Given the description of an element on the screen output the (x, y) to click on. 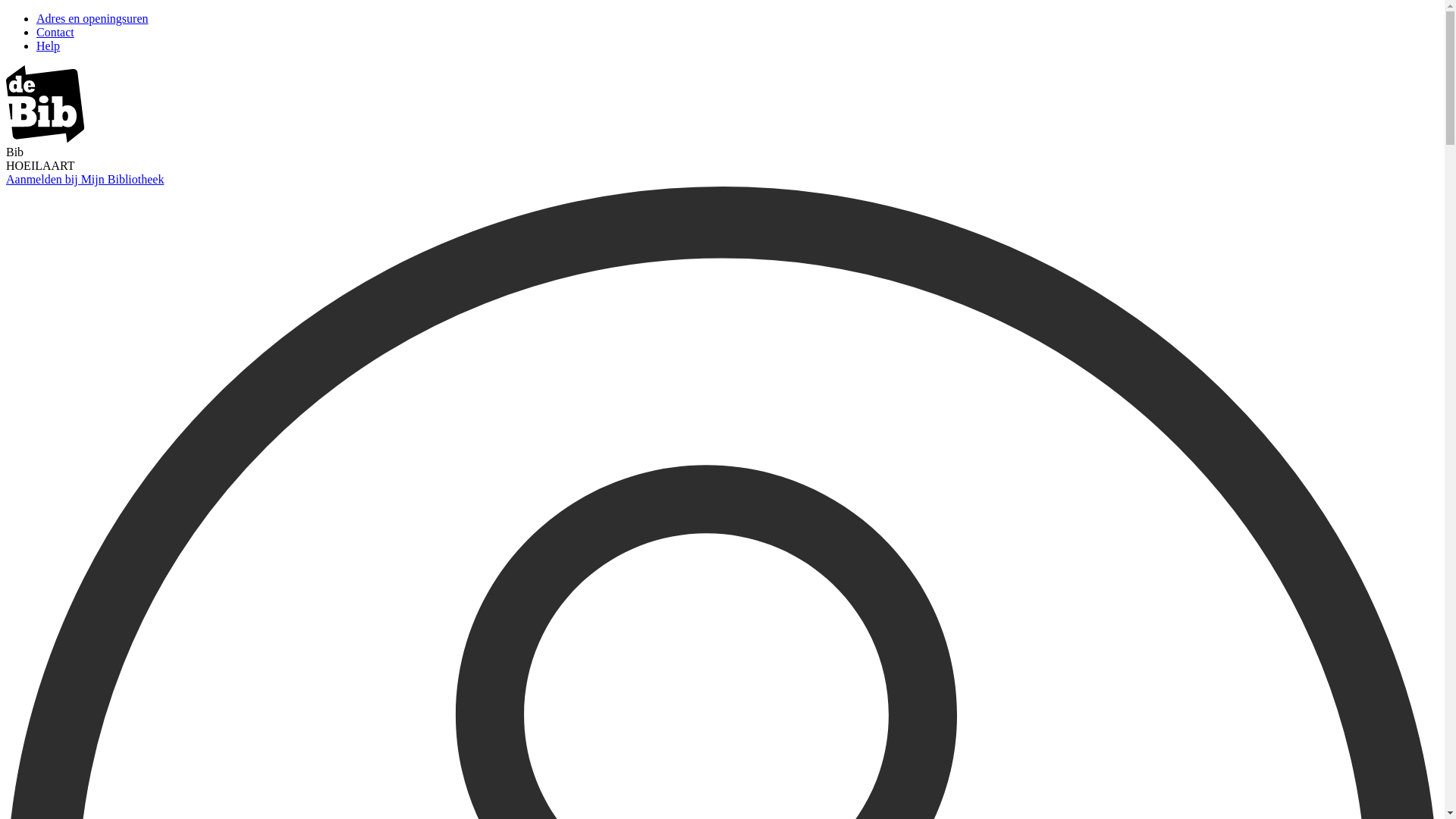
Help Element type: text (47, 45)
Adres en openingsuren Element type: text (92, 18)
Overslaan en naar zoeken gaan Element type: text (6, 12)
image/svg+xml Element type: text (45, 137)
Contact Element type: text (55, 31)
Aanmelden bij Mijn Bibliotheek Element type: text (84, 178)
